Given the description of an element on the screen output the (x, y) to click on. 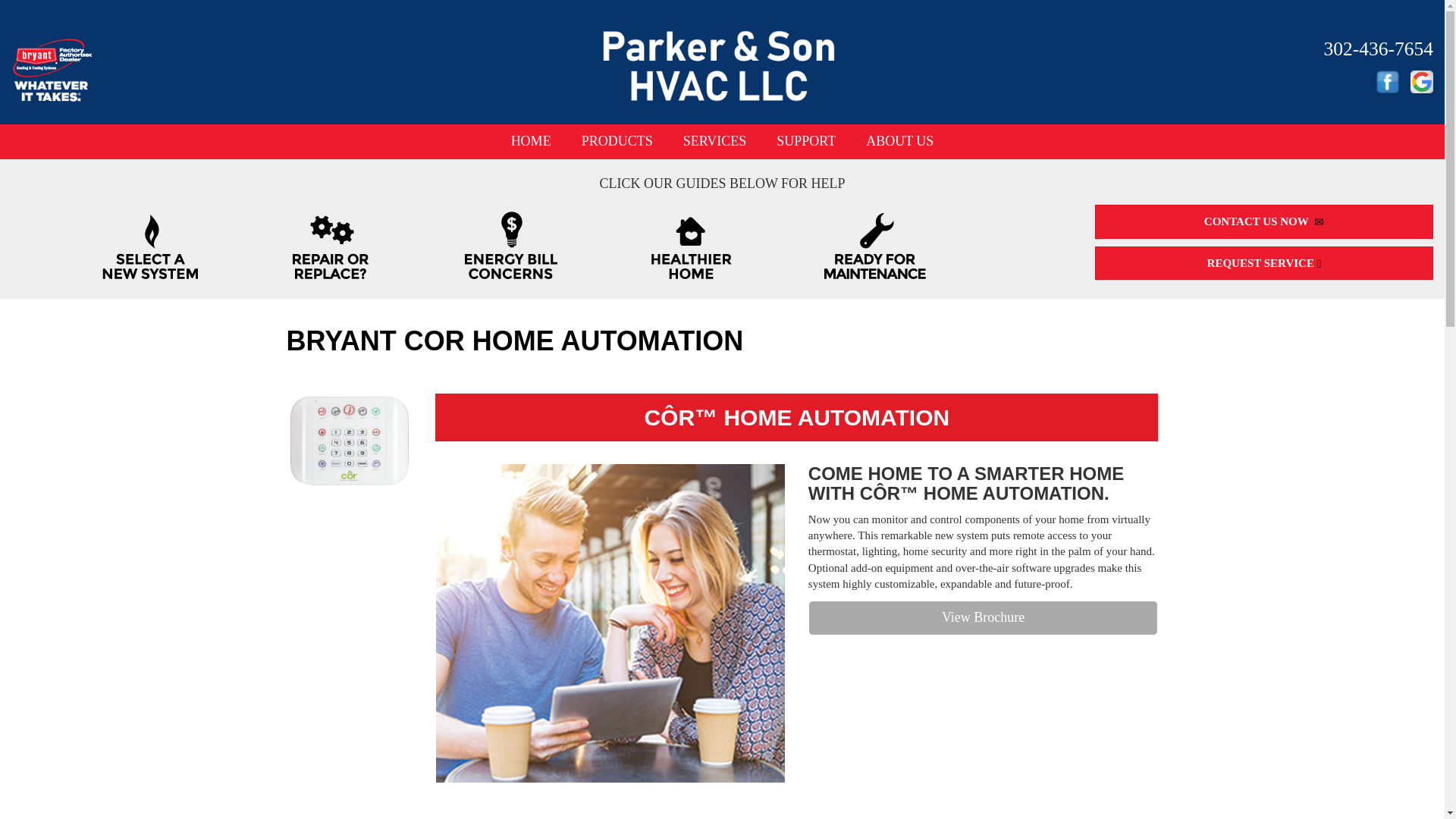
HOME (531, 141)
PRODUCTS (617, 141)
SUPPORT (805, 141)
302-436-7654 (1377, 48)
SERVICES (714, 141)
ABOUT US (899, 141)
